Given the description of an element on the screen output the (x, y) to click on. 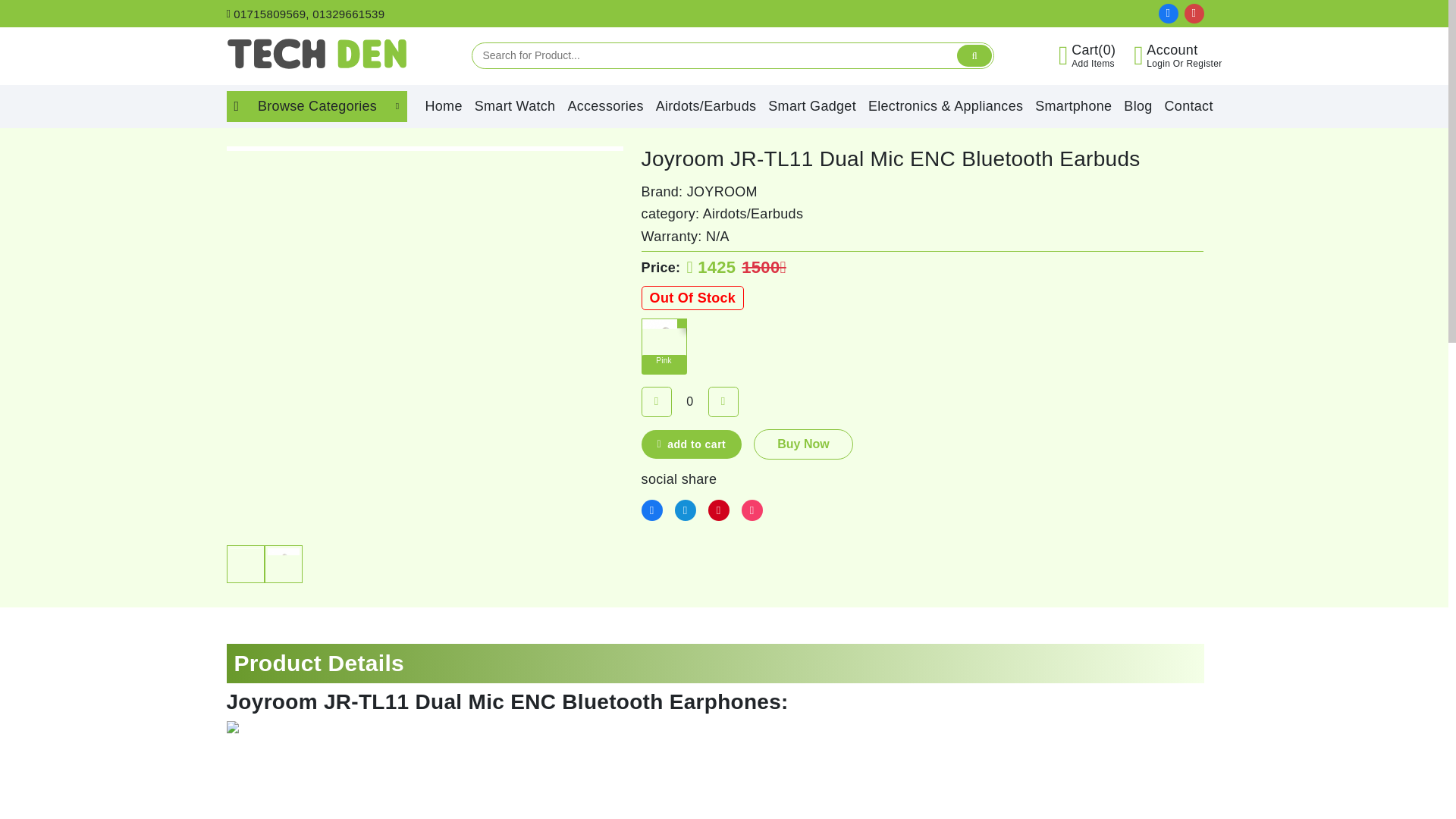
0 (689, 401)
Login Or Register (1184, 63)
Pink (664, 340)
01715809569, 01329661539 (304, 13)
